Given the description of an element on the screen output the (x, y) to click on. 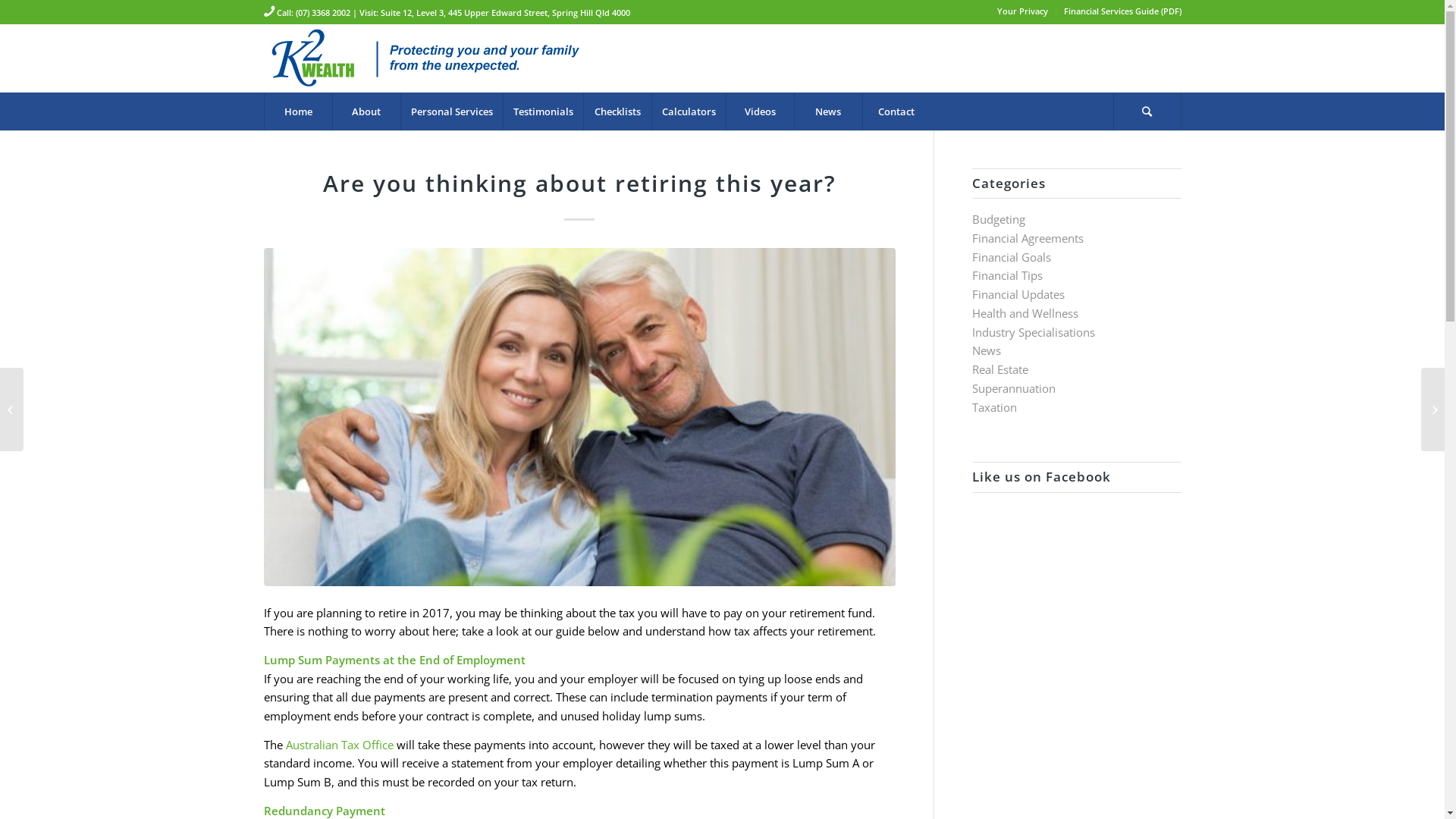
Your Privacy Element type: text (1021, 10)
Financial Tips Element type: text (1007, 274)
Taxation Element type: text (994, 406)
Financial Services Guide (PDF) Element type: text (1121, 10)
Real Estate Element type: text (1000, 368)
Financial Updates Element type: text (1018, 293)
Budgeting Element type: text (998, 218)
Australian Tax Office Element type: text (338, 744)
Checklists Element type: text (616, 111)
Financial Goals Element type: text (1011, 256)
News Element type: text (986, 349)
Financial Agreements Element type: text (1027, 237)
Videos Element type: text (758, 111)
Health and Wellness Element type: text (1025, 312)
Contact Element type: text (895, 111)
Calculators Element type: text (687, 111)
Are you thinking about retiring this year? Element type: text (579, 182)
Superannuation Element type: text (1013, 387)
Industry Specialisations Element type: text (1033, 331)
Testimonials Element type: text (542, 111)
Personal Services Element type: text (451, 111)
Home Element type: text (297, 111)
News Element type: text (827, 111)
Are you thinking about retiring this year? Element type: hover (579, 416)
About Element type: text (366, 111)
